Given the description of an element on the screen output the (x, y) to click on. 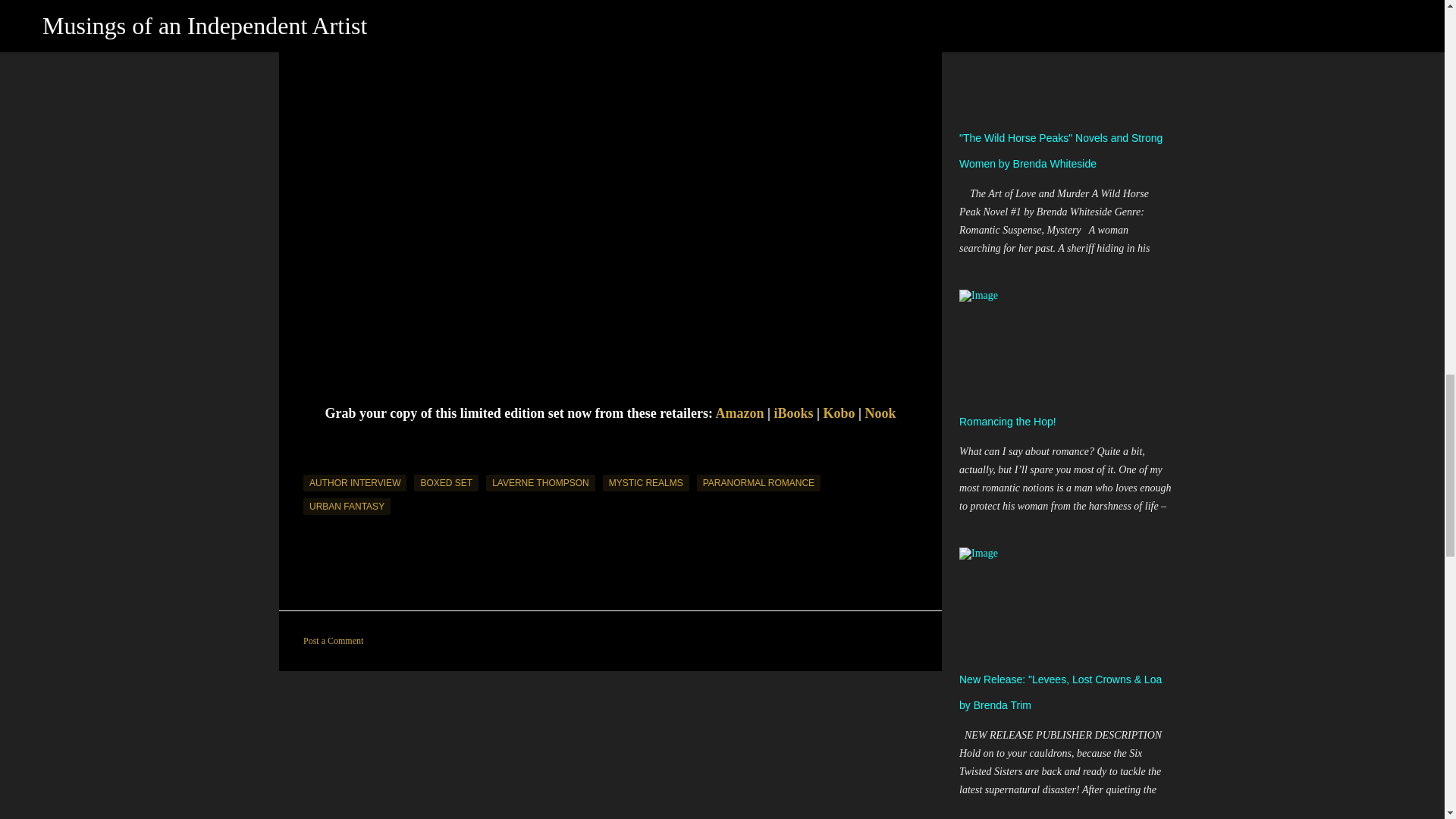
URBAN FANTASY (346, 506)
Nook (879, 412)
MYSTIC REALMS (645, 483)
iBooks (792, 412)
LAVERNE THOMPSON (540, 483)
BOXED SET (446, 483)
PARANORMAL ROMANCE (759, 483)
Kobo (838, 412)
Amazon (738, 412)
AUTHOR INTERVIEW (354, 483)
Post a Comment (332, 640)
